Given the description of an element on the screen output the (x, y) to click on. 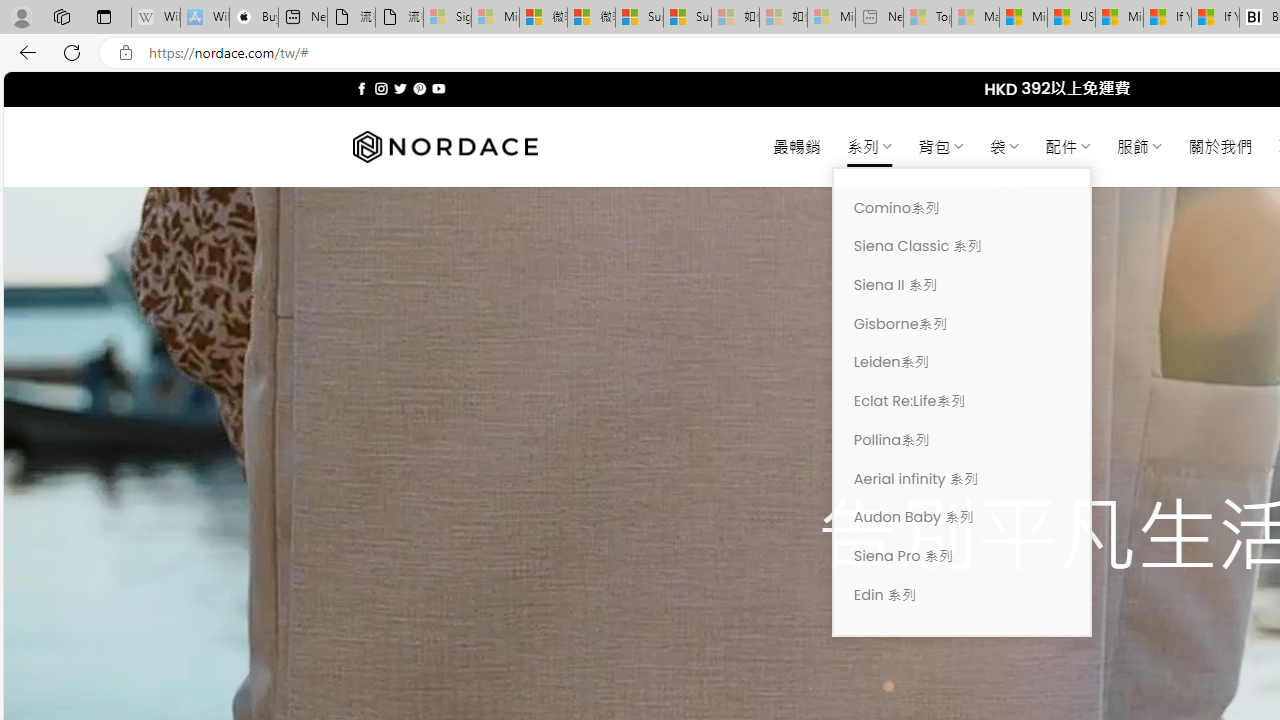
Follow on Pinterest (419, 88)
Sign in to your Microsoft account - Sleeping (447, 17)
